Given the description of an element on the screen output the (x, y) to click on. 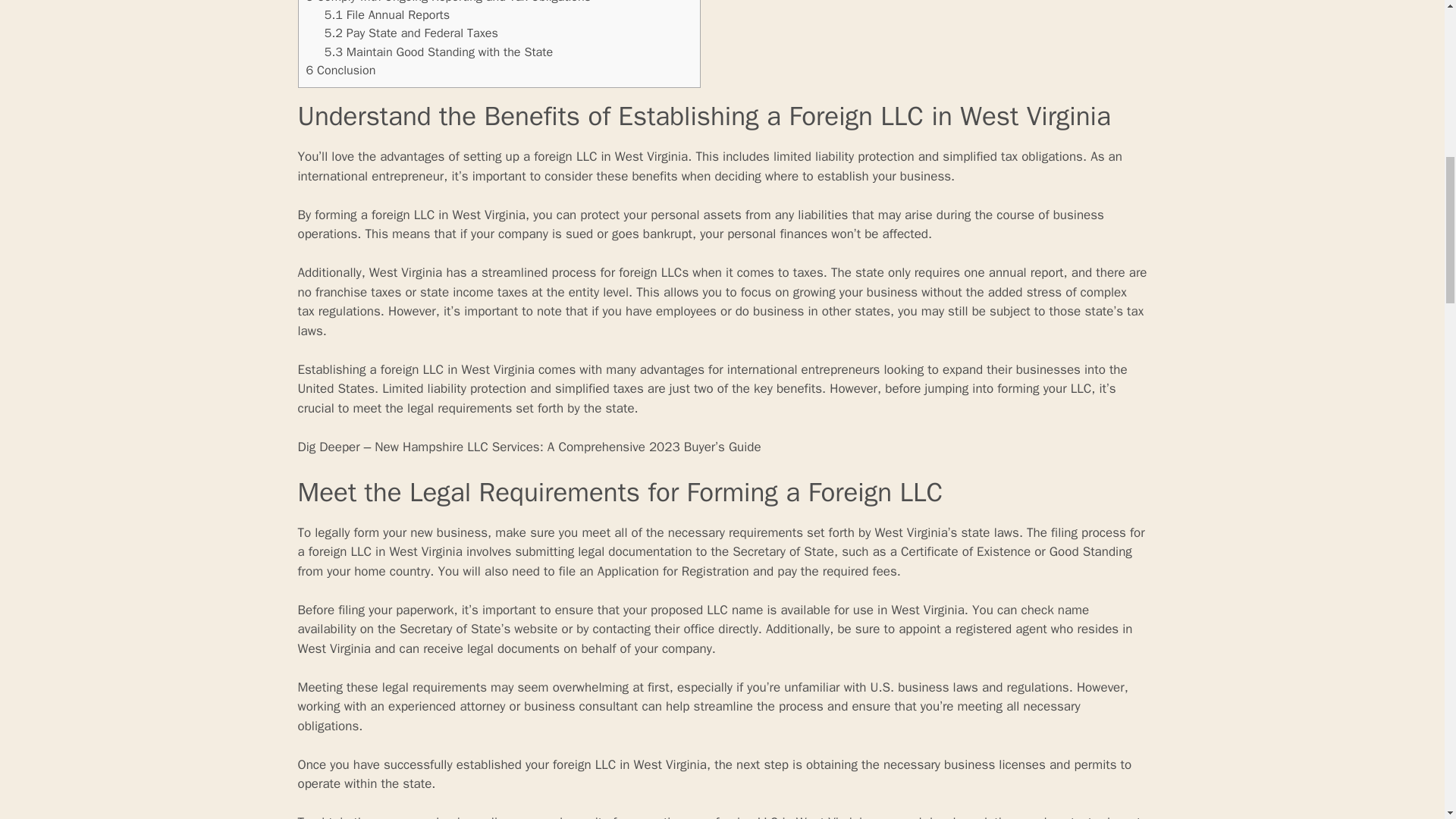
5 Comply with Ongoing Reporting and Tax Obligations (448, 2)
Scroll back to top (1406, 720)
6 Conclusion (340, 69)
registered agent (1000, 628)
5.3 Maintain Good Standing with the State (438, 51)
5.2 Pay State and Federal Taxes (410, 32)
5.1 File Annual Reports (386, 14)
